Given the description of an element on the screen output the (x, y) to click on. 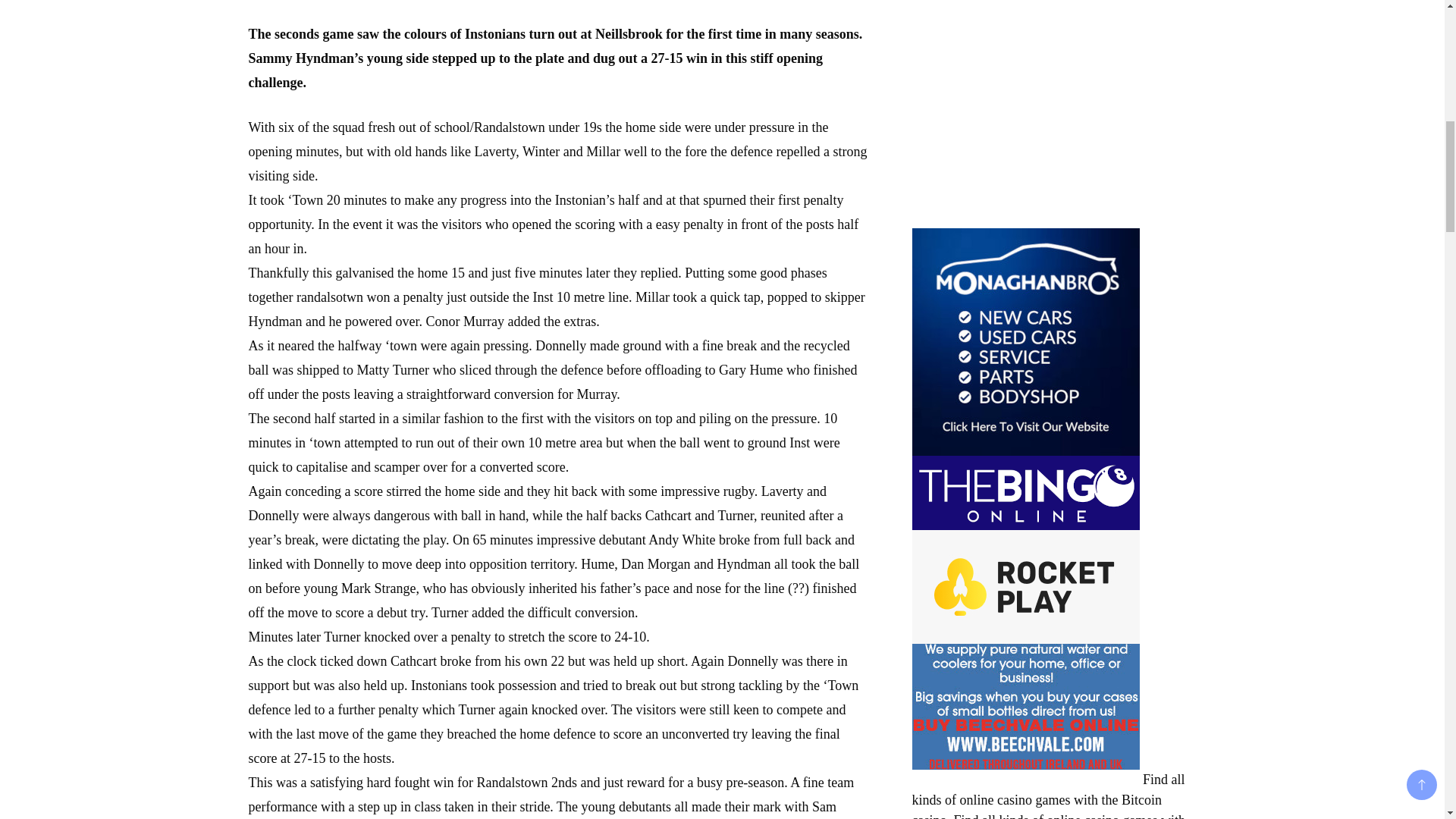
TheBingoOnline (1024, 492)
Rocketplay Casino (1024, 586)
Advertisement (1024, 110)
